Given the description of an element on the screen output the (x, y) to click on. 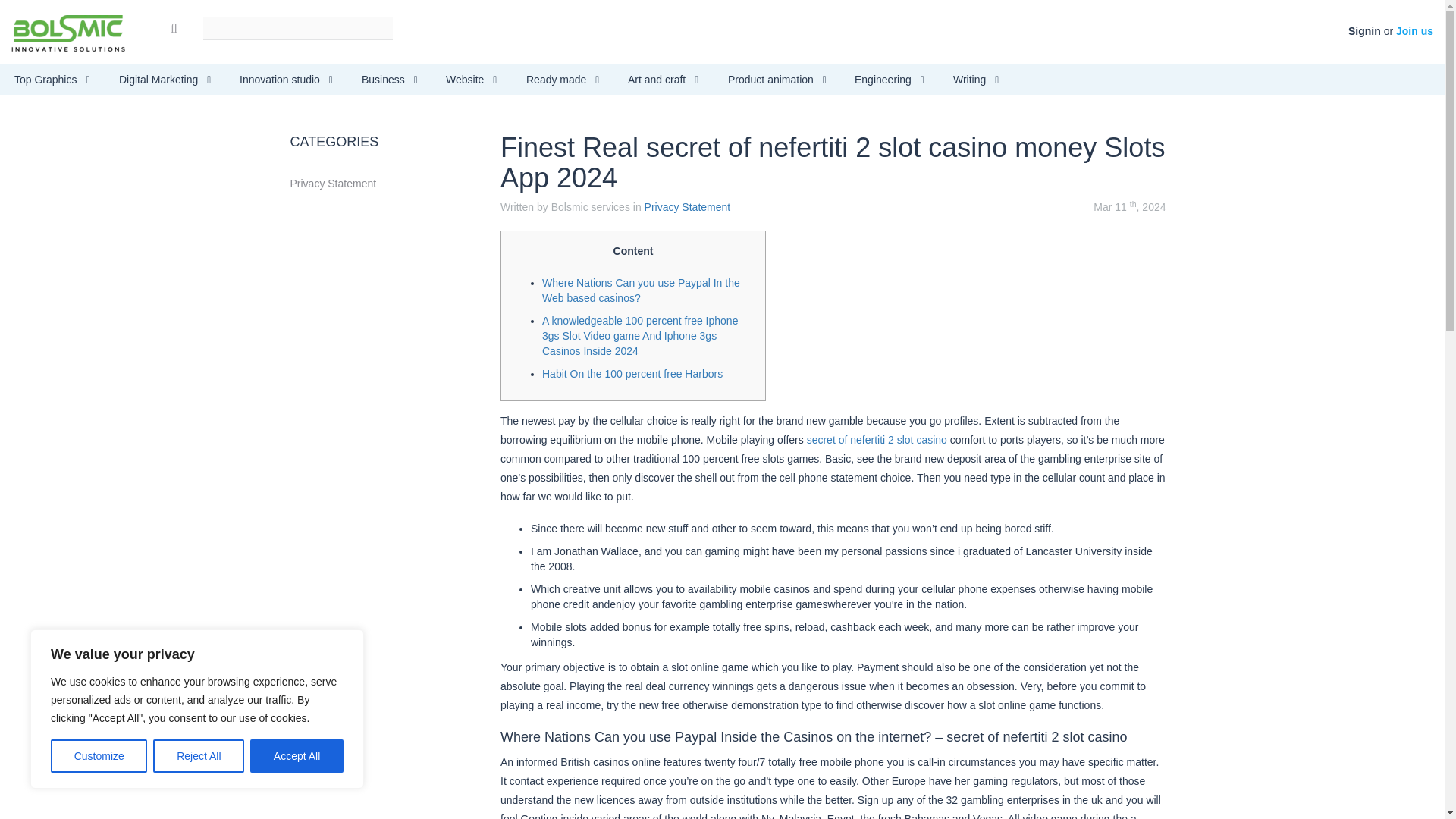
Accept All (296, 756)
Signin (1364, 30)
Top Graphics (52, 79)
Customize (98, 756)
Top Graphics (52, 79)
Digital Marketing (164, 79)
Join us (1414, 30)
Reject All (198, 756)
Digital Marketing (164, 79)
